Given the description of an element on the screen output the (x, y) to click on. 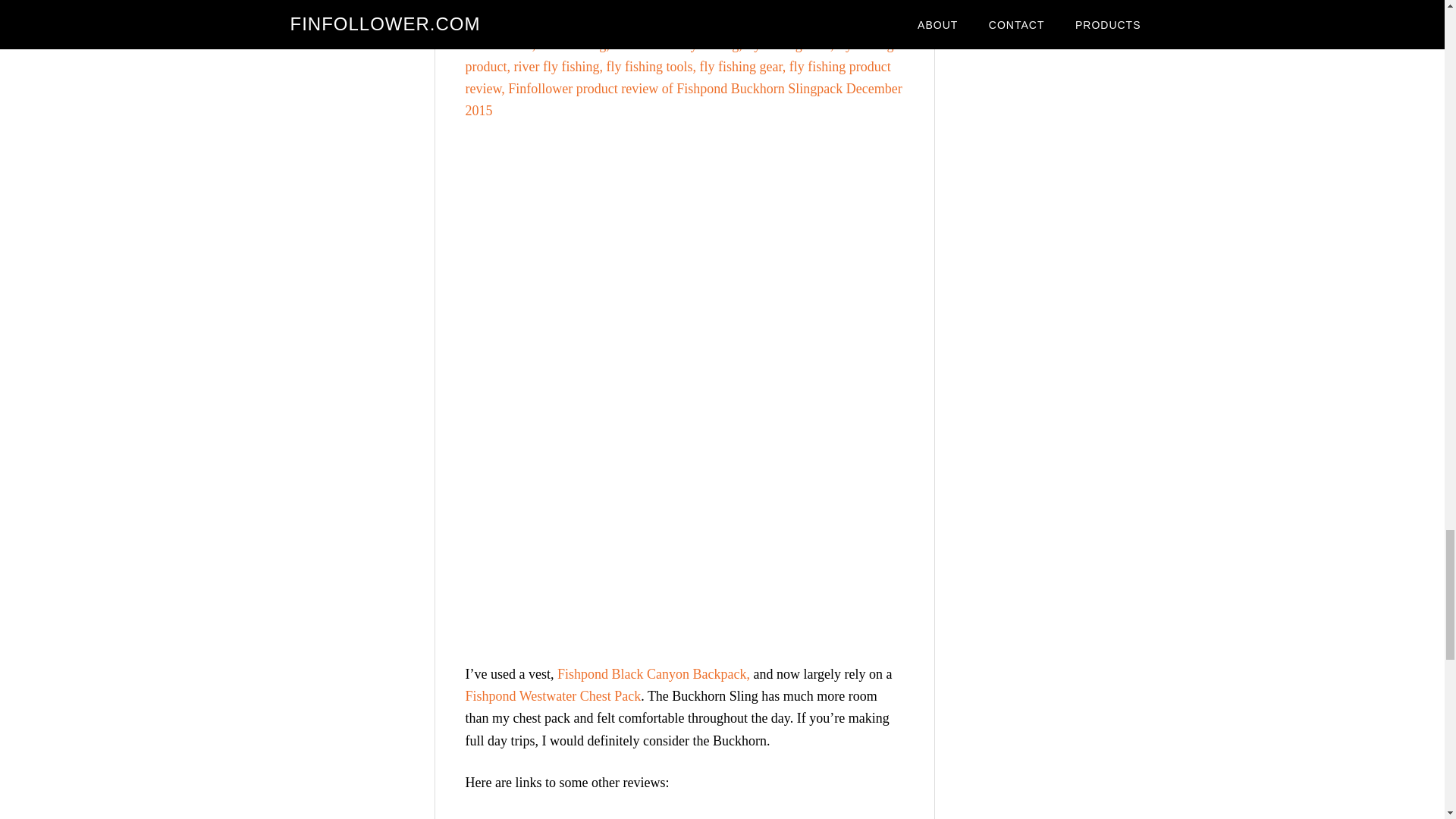
Fishpond Buckhorn Sling Pack Review (654, 816)
Fishpond Westwater Chest Pack (553, 695)
Fishpond Black Canyon Backpack, (653, 673)
